Given the description of an element on the screen output the (x, y) to click on. 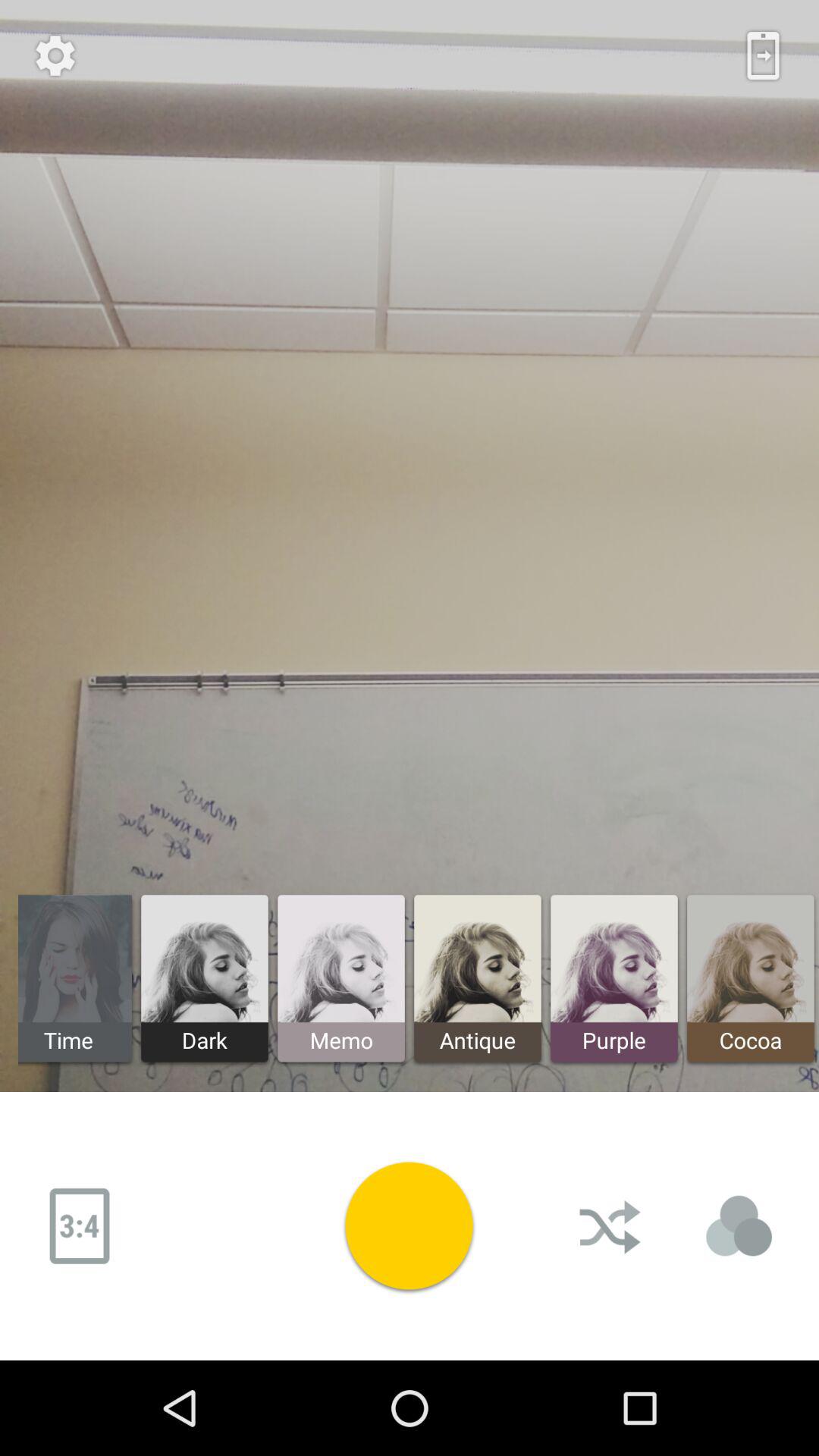
choose the selection (739, 1226)
